Given the description of an element on the screen output the (x, y) to click on. 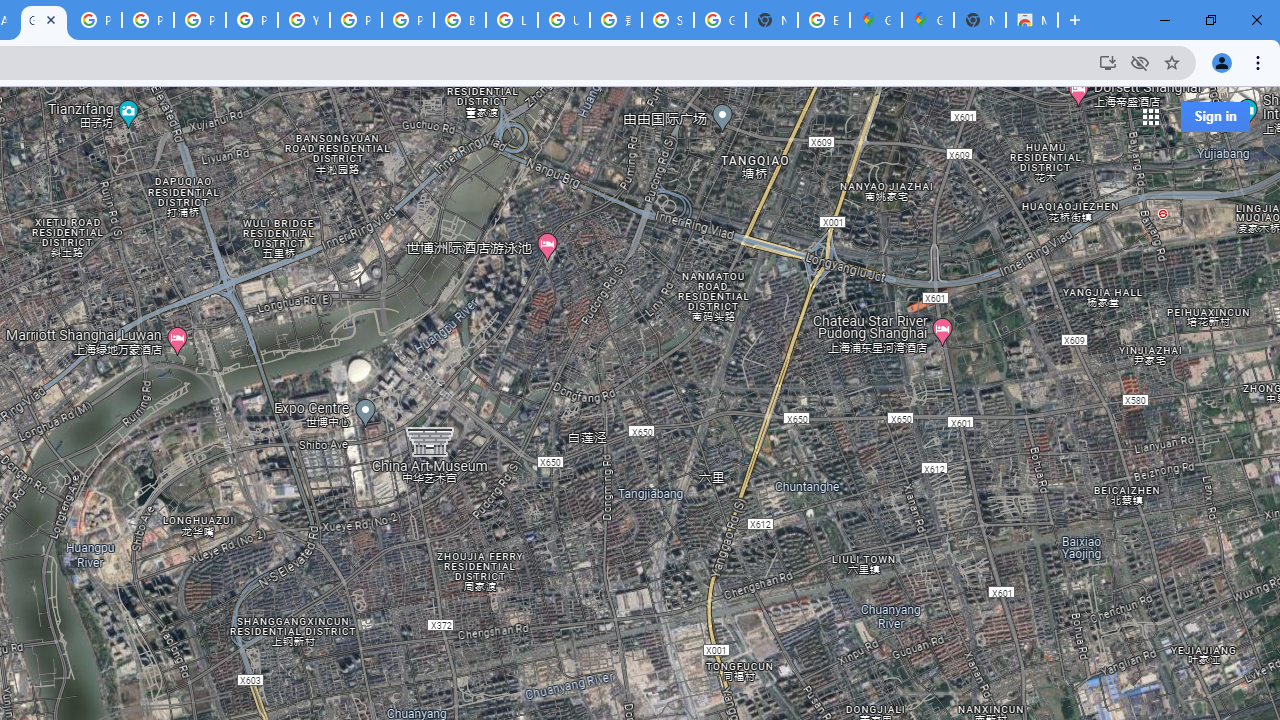
Google Maps (875, 20)
New Tab (979, 20)
Privacy Help Center - Policies Help (200, 20)
Sign in - Google Accounts (667, 20)
Google Maps (927, 20)
